Given the description of an element on the screen output the (x, y) to click on. 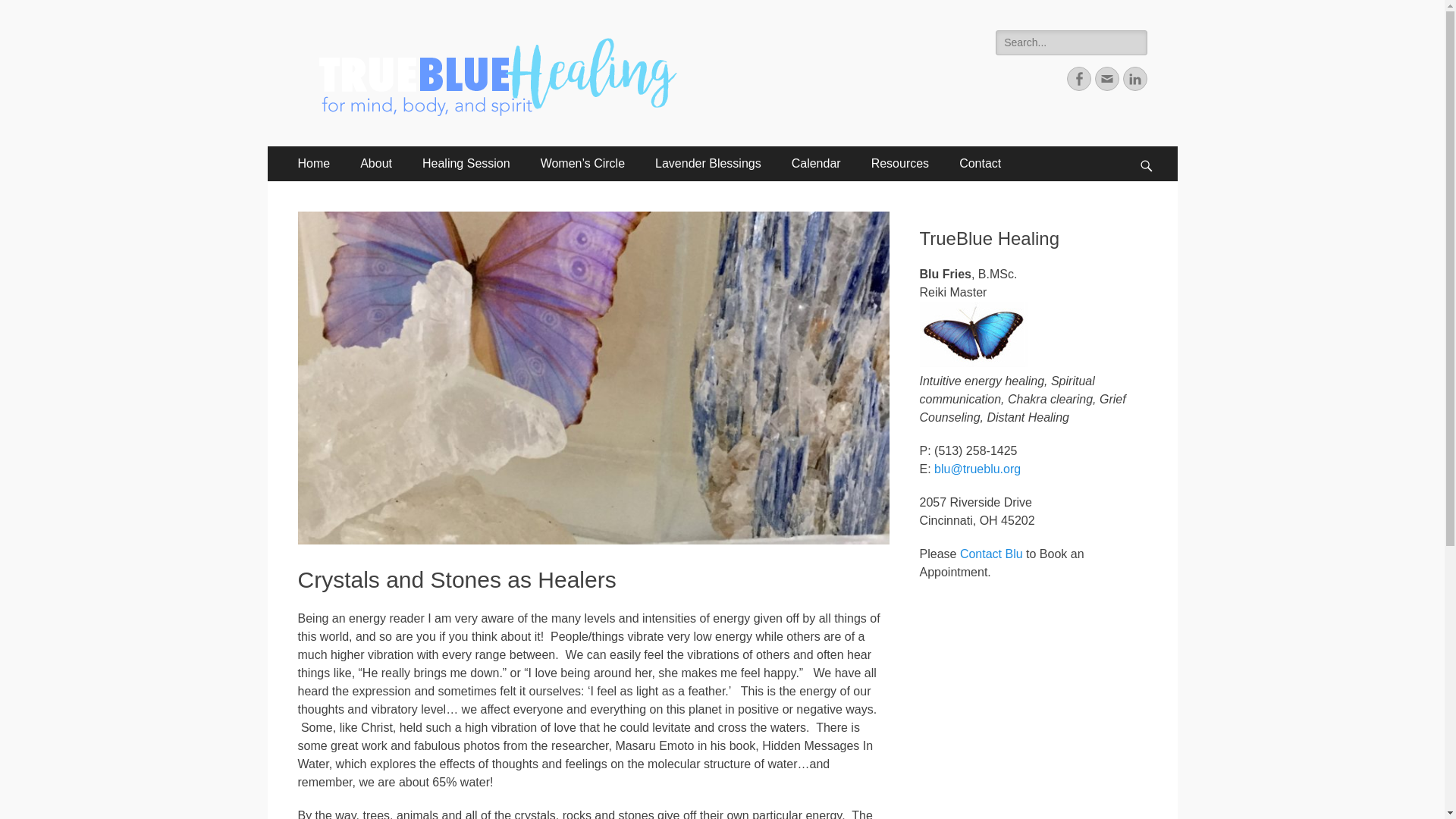
LinkedIn (1134, 78)
Search for: (1071, 42)
Email (1106, 78)
Healing Session (466, 163)
About (376, 163)
TrueBlue Healing (414, 48)
Contact Blu (991, 553)
Facebook (1077, 78)
Search (24, 9)
Facebook (1077, 78)
Calendar (816, 163)
Contact (979, 163)
Resources (899, 163)
Home (313, 163)
